Given the description of an element on the screen output the (x, y) to click on. 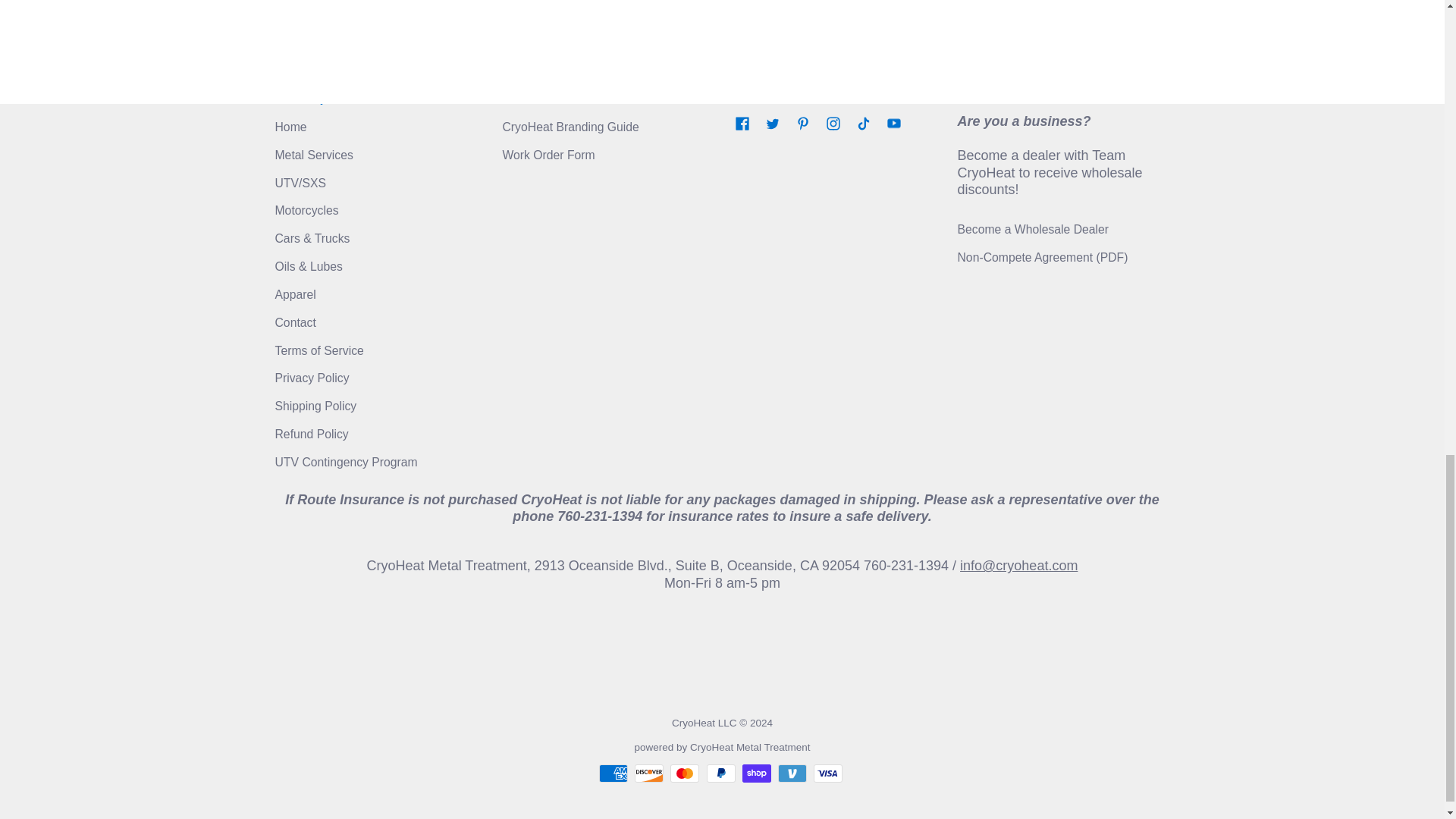
Home (290, 126)
PayPal (720, 773)
Discover (648, 773)
Visa (828, 773)
Contact (295, 322)
Privacy Policy (312, 377)
Venmo (791, 773)
Shipping Policy (315, 405)
Mastercard (683, 773)
Terms of Service (318, 350)
Metal Services (313, 154)
American Express (612, 773)
Motorcycles (306, 210)
Shop Pay (756, 773)
Apparel (295, 294)
